Given the description of an element on the screen output the (x, y) to click on. 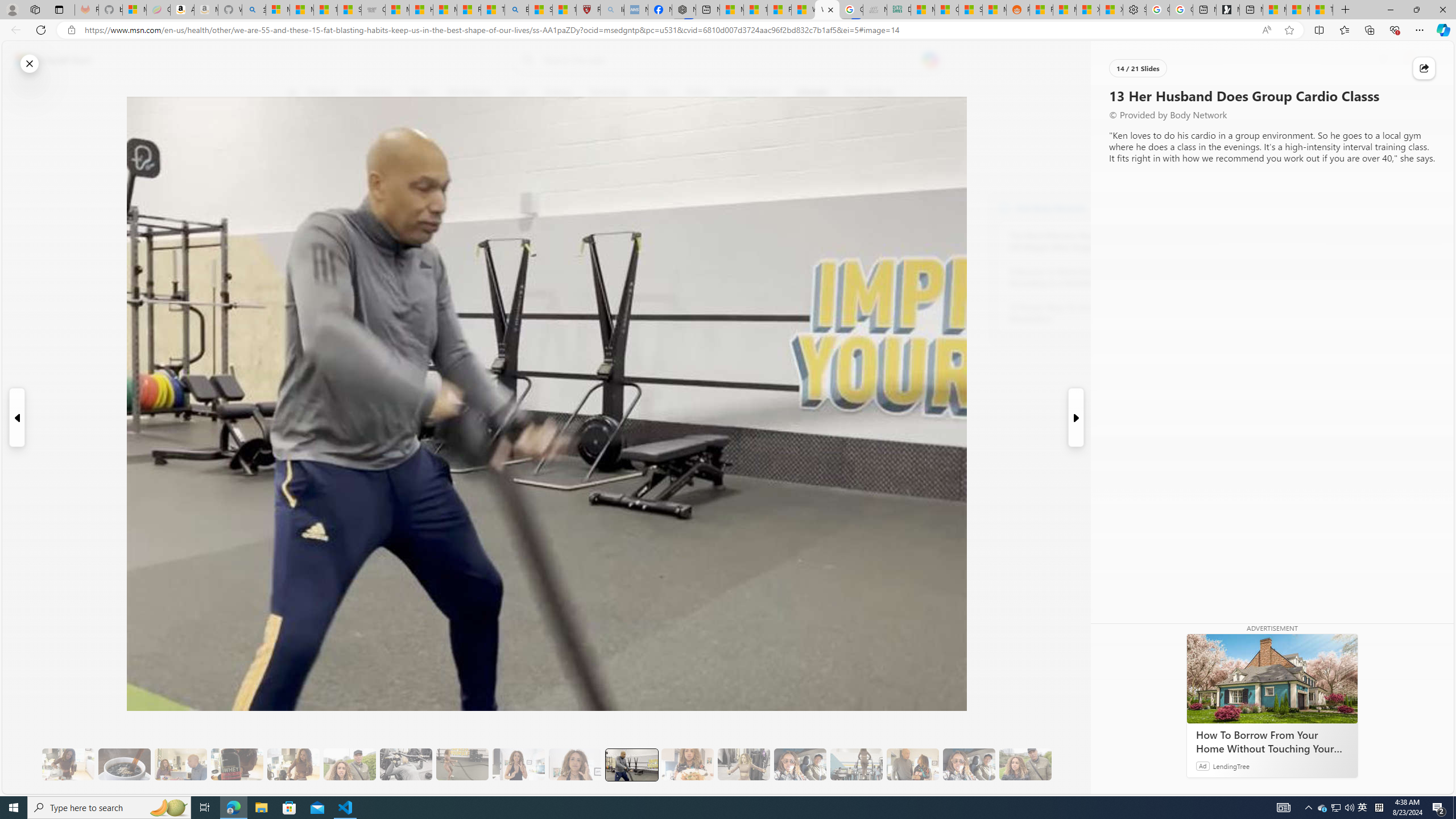
18 It's More Fun Doing It with Someone Else (912, 764)
7 They Don't Skip Meals (293, 764)
Personalize (1132, 92)
